Given the description of an element on the screen output the (x, y) to click on. 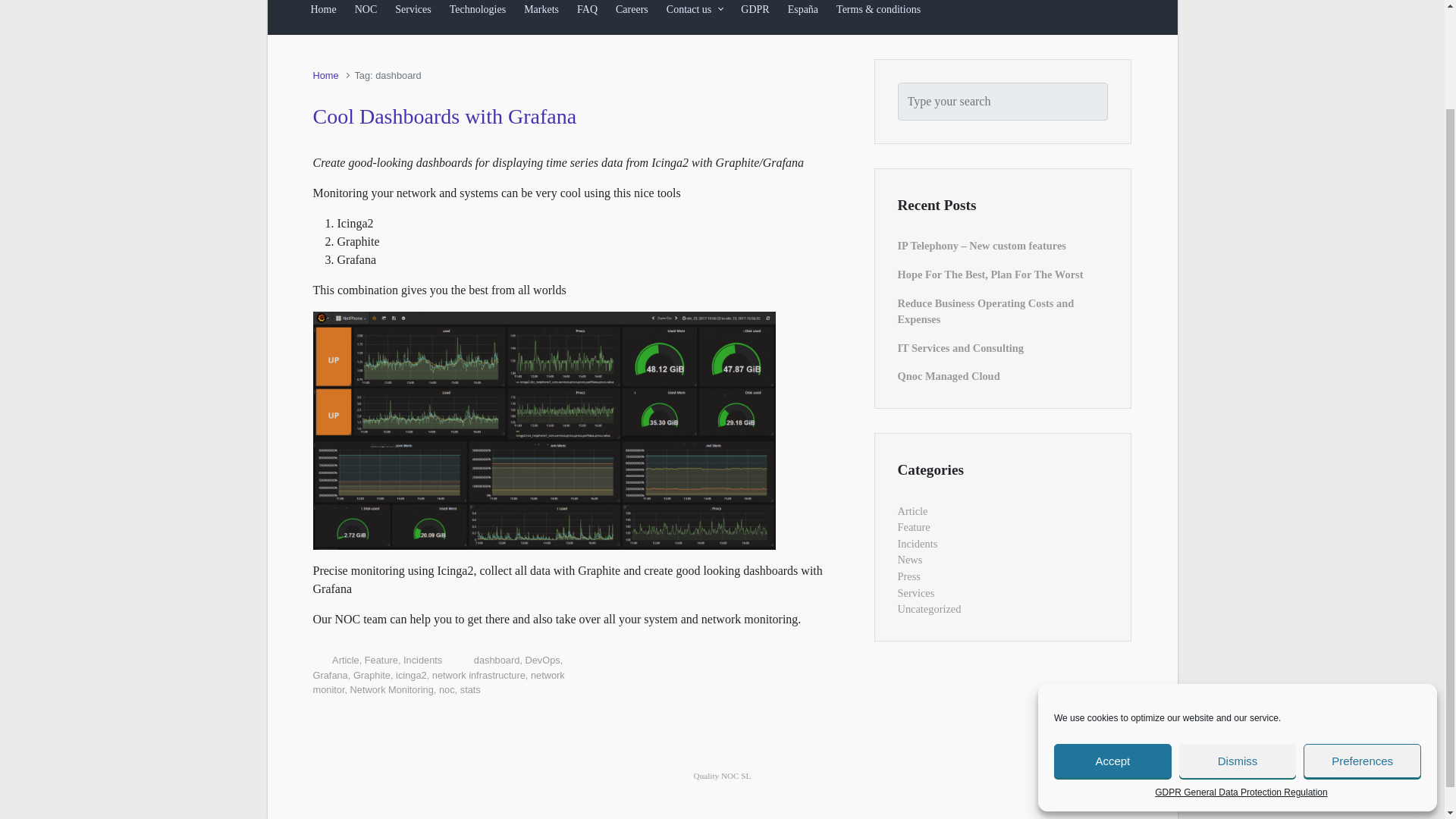
Dismiss (1238, 641)
Preferences (1362, 641)
Markets (541, 14)
Contact us (695, 14)
Accept (1113, 641)
Services (412, 14)
NOC (366, 14)
Home (323, 14)
GDPR General Data Protection Regulation (1240, 673)
Technologies (478, 14)
FAQ (587, 14)
Careers (631, 14)
